Given the description of an element on the screen output the (x, y) to click on. 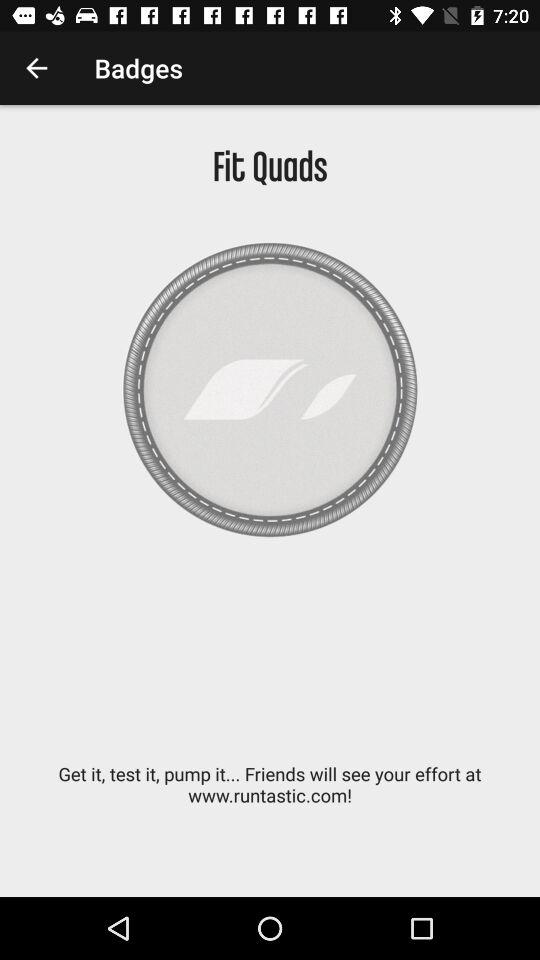
choose the icon above the fit quads (36, 68)
